Given the description of an element on the screen output the (x, y) to click on. 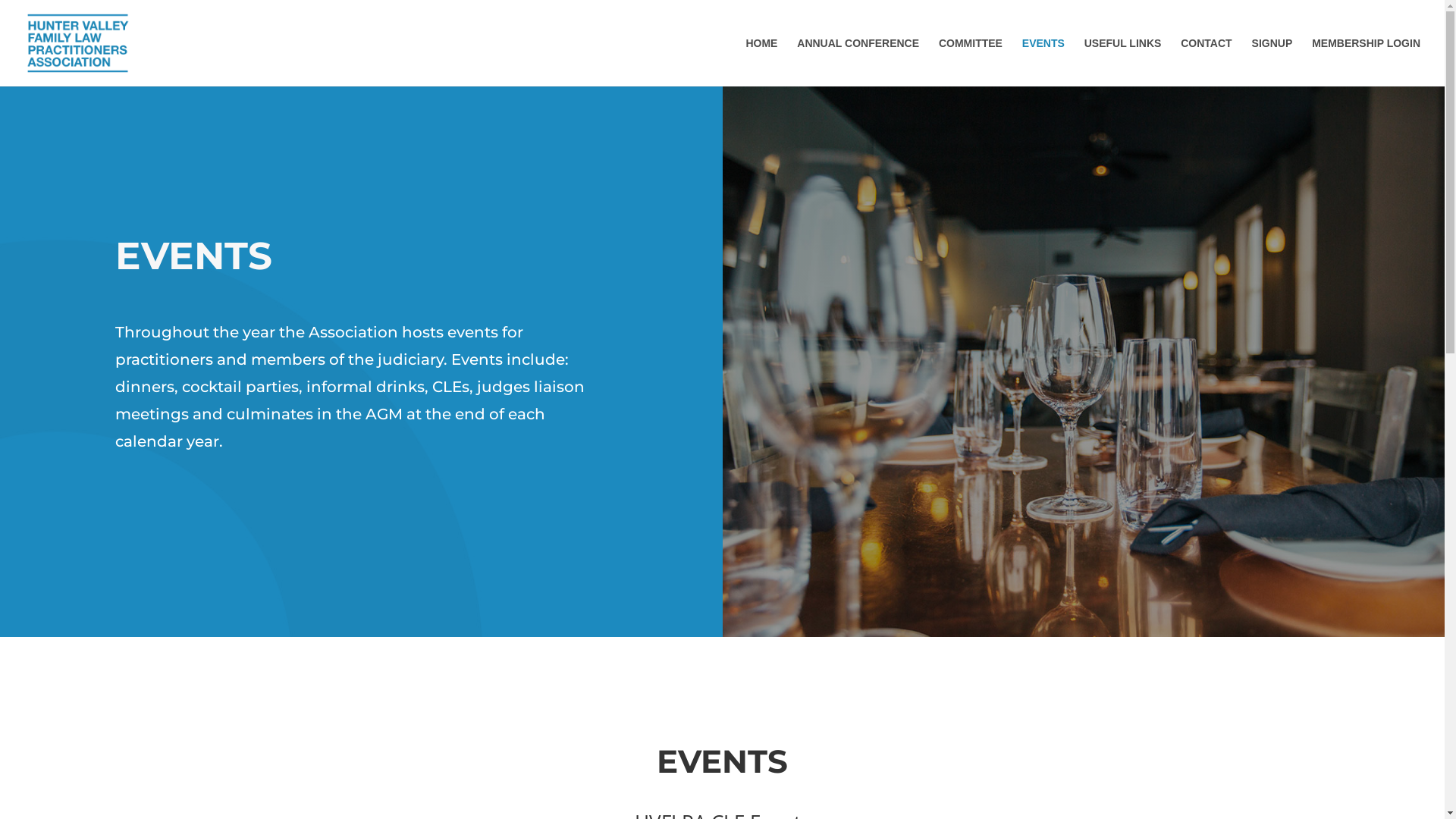
MEMBERSHIP LOGIN Element type: text (1365, 61)
COMMITTEE Element type: text (970, 61)
CONTACT Element type: text (1205, 61)
SIGNUP Element type: text (1272, 61)
USEFUL LINKS Element type: text (1122, 61)
HOME Element type: text (761, 61)
ANNUAL CONFERENCE Element type: text (858, 61)
EVENTS Element type: text (1043, 61)
